Given the description of an element on the screen output the (x, y) to click on. 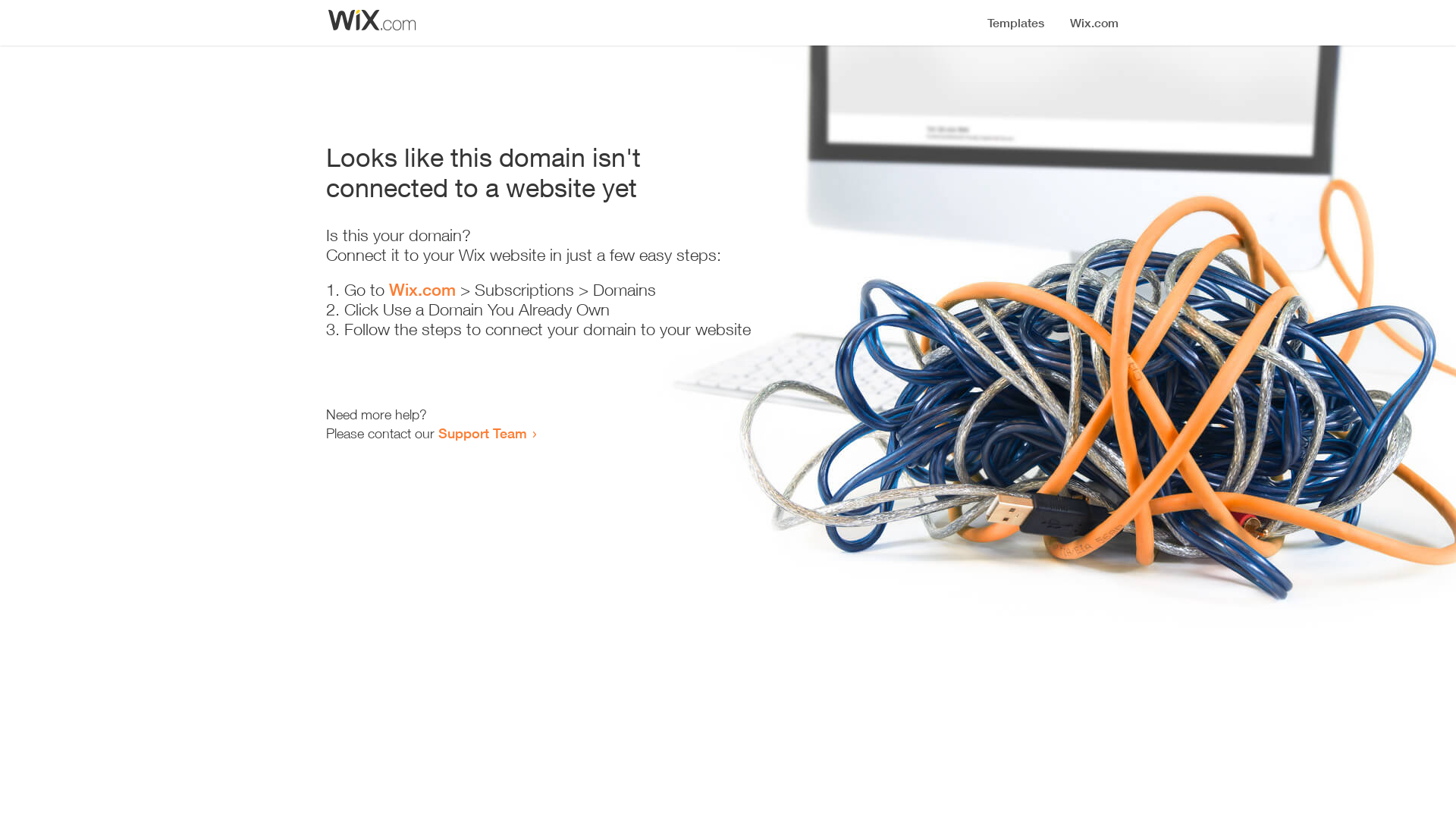
Wix.com Element type: text (422, 289)
Support Team Element type: text (482, 432)
